Given the description of an element on the screen output the (x, y) to click on. 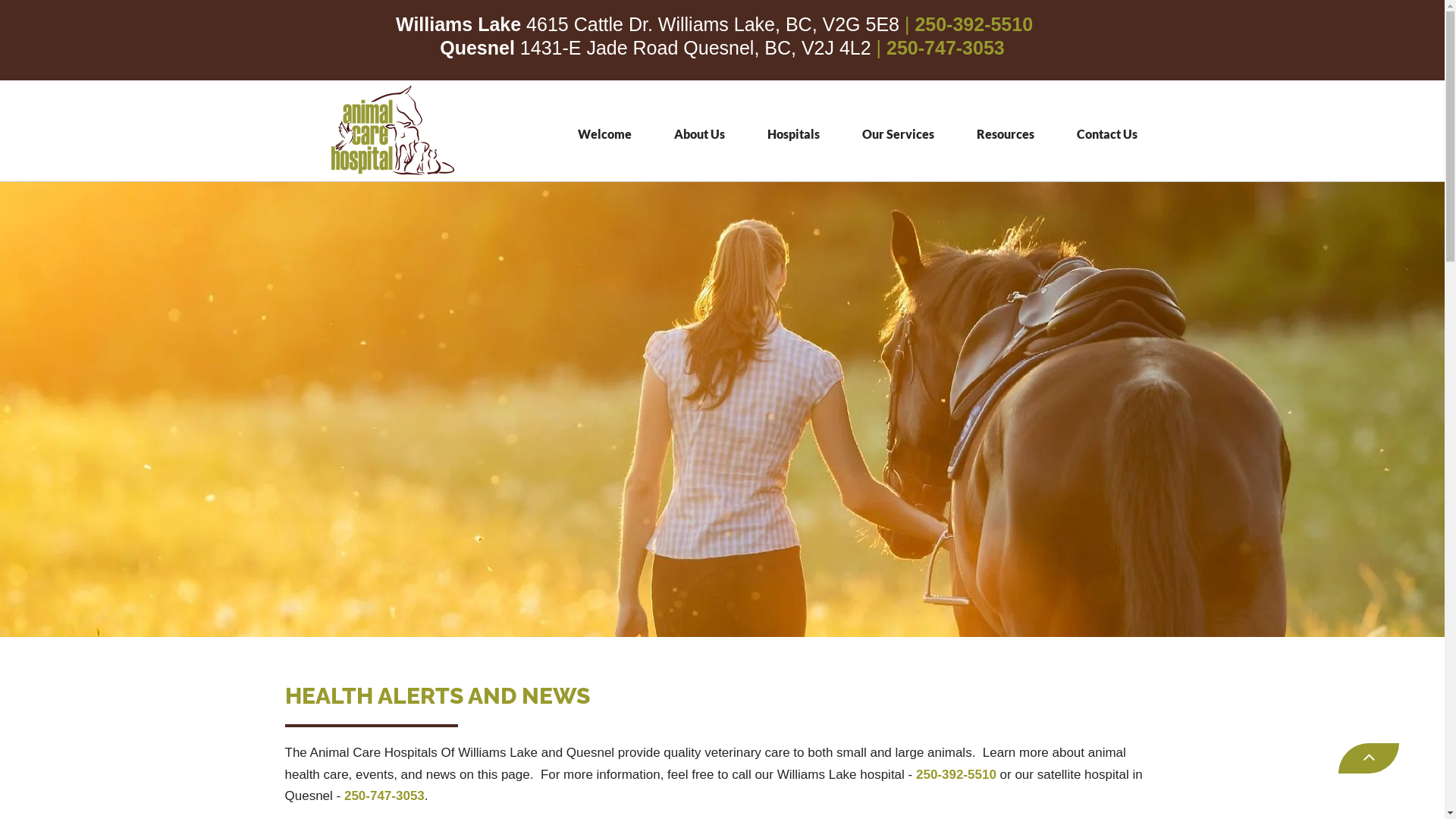
Our Services Element type: text (898, 135)
Contact Us Element type: text (1106, 135)
250-392-5510 Element type: text (973, 23)
About Us Element type: text (699, 135)
Hospitals Element type: text (793, 135)
250-392-5510 Element type: text (956, 775)
250-747-3053 Element type: text (384, 797)
250-747-3053 Element type: text (945, 47)
Resources Element type: text (1005, 135)
Welcome Element type: text (604, 135)
